Given the description of an element on the screen output the (x, y) to click on. 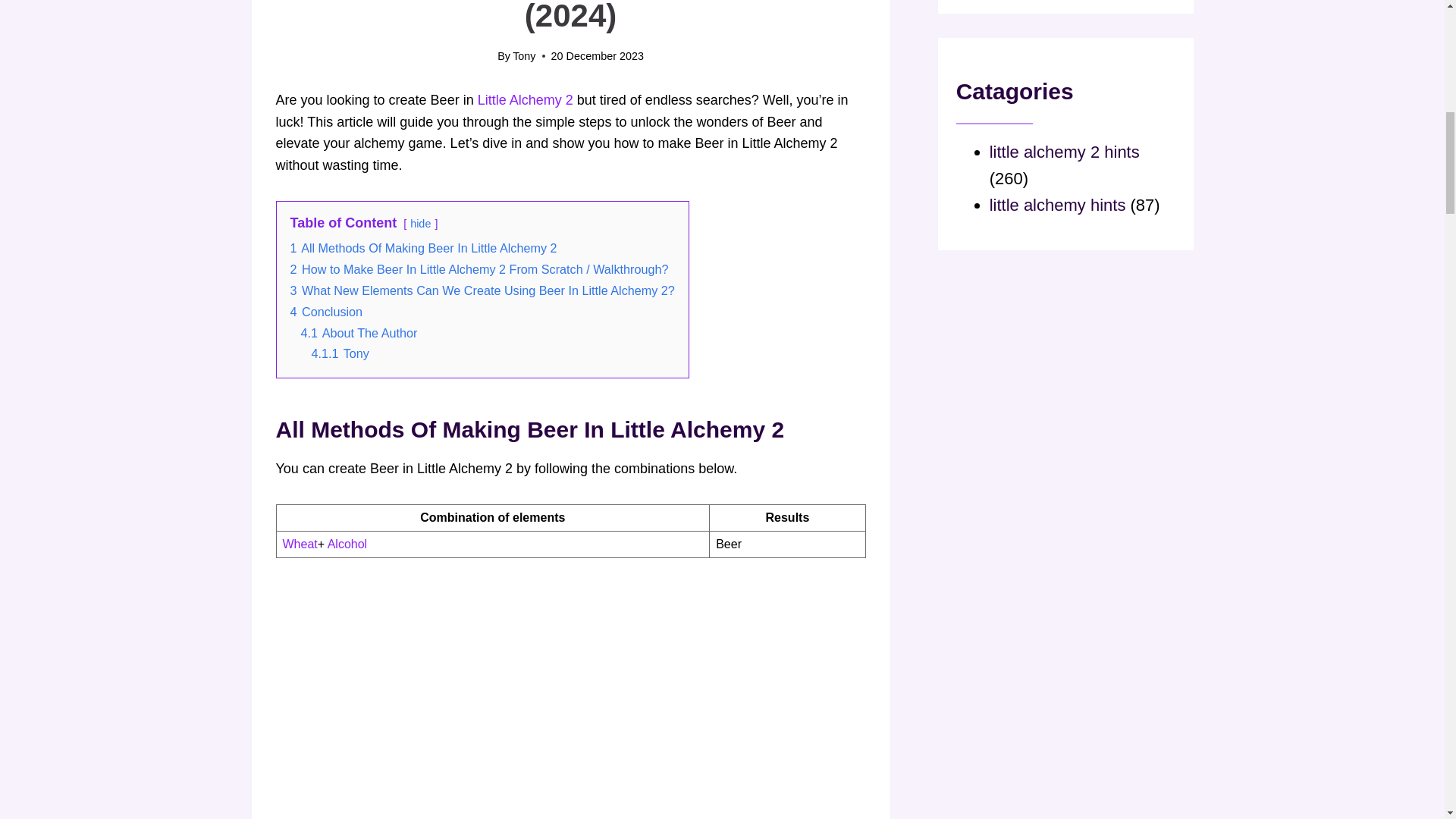
4 Conclusion (325, 311)
Alcohol (346, 543)
Wheat (299, 543)
Tony (523, 55)
4.1.1 Tony (339, 353)
Little Alchemy 2 (525, 99)
1 All Methods Of Making Beer In Little Alchemy 2 (422, 247)
4.1 About The Author (357, 332)
hide (420, 223)
